Given the description of an element on the screen output the (x, y) to click on. 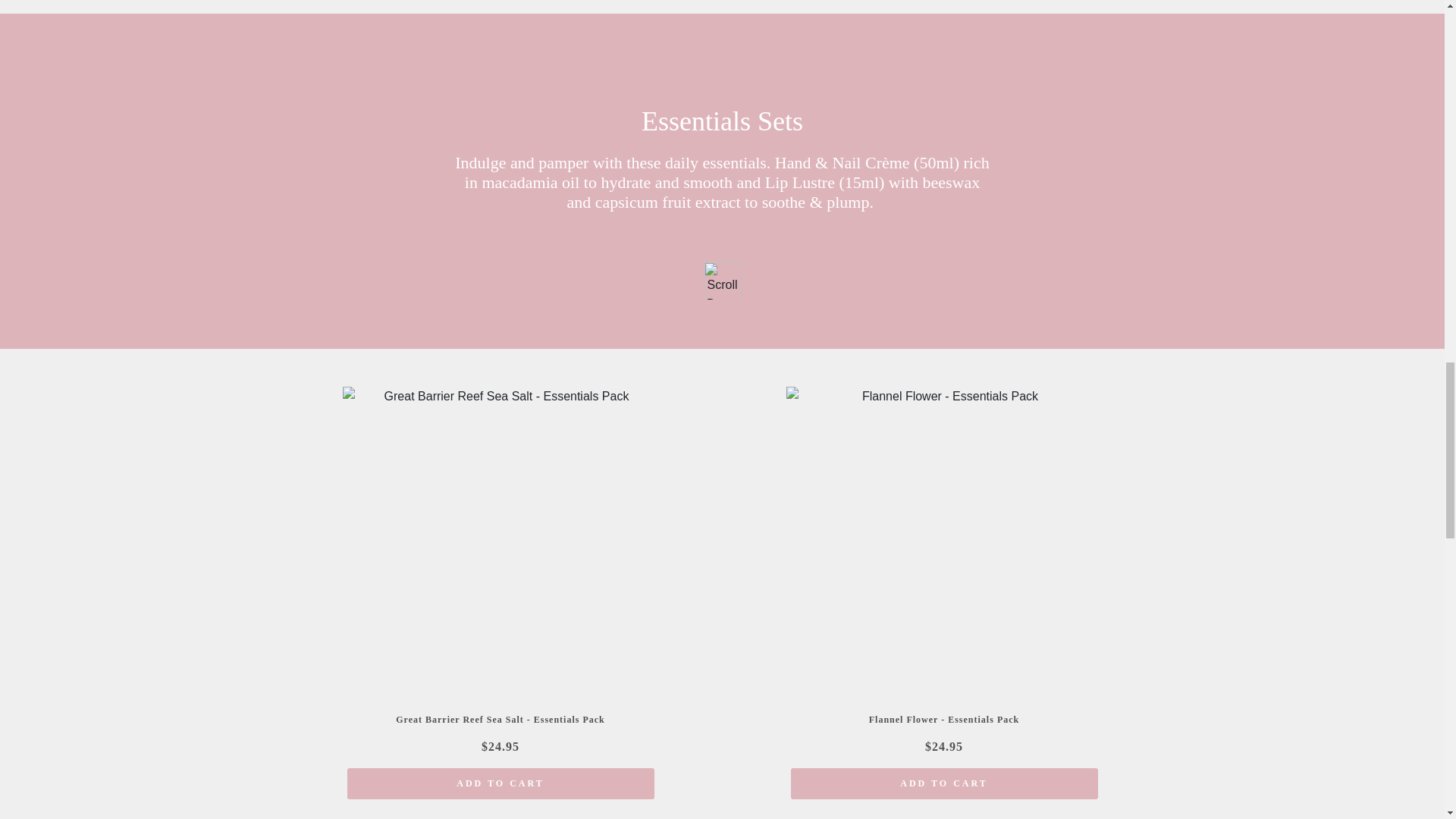
Scroll Down (722, 279)
